Given the description of an element on the screen output the (x, y) to click on. 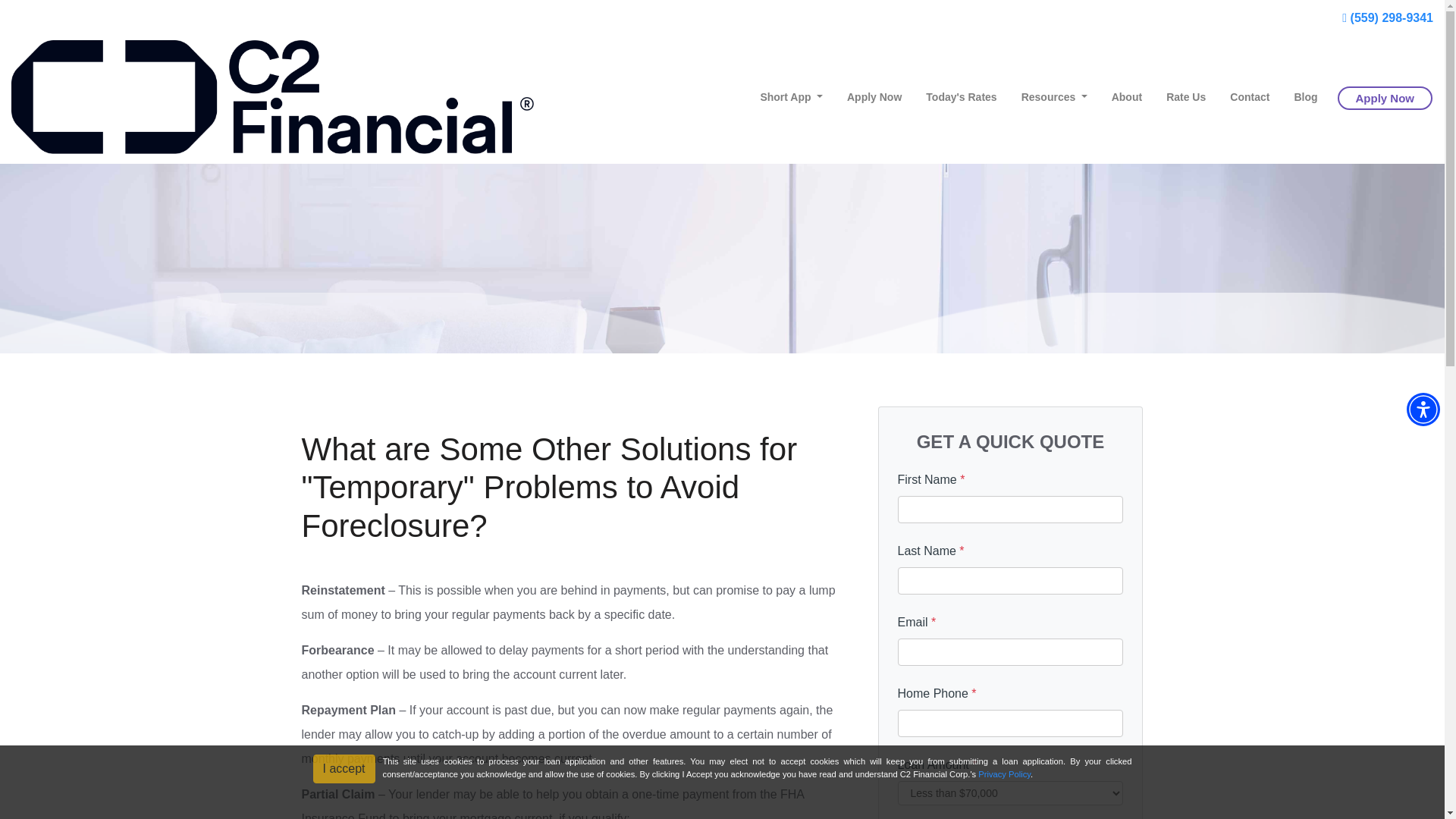
Resources (1054, 97)
Apply Now (874, 97)
Blog (1305, 97)
Short App (791, 97)
Accessibility Menu (1422, 409)
Today's Rates (961, 97)
Contact (1249, 97)
About (1126, 97)
Rate Us (1185, 97)
Apply Now (1385, 97)
